Given the description of an element on the screen output the (x, y) to click on. 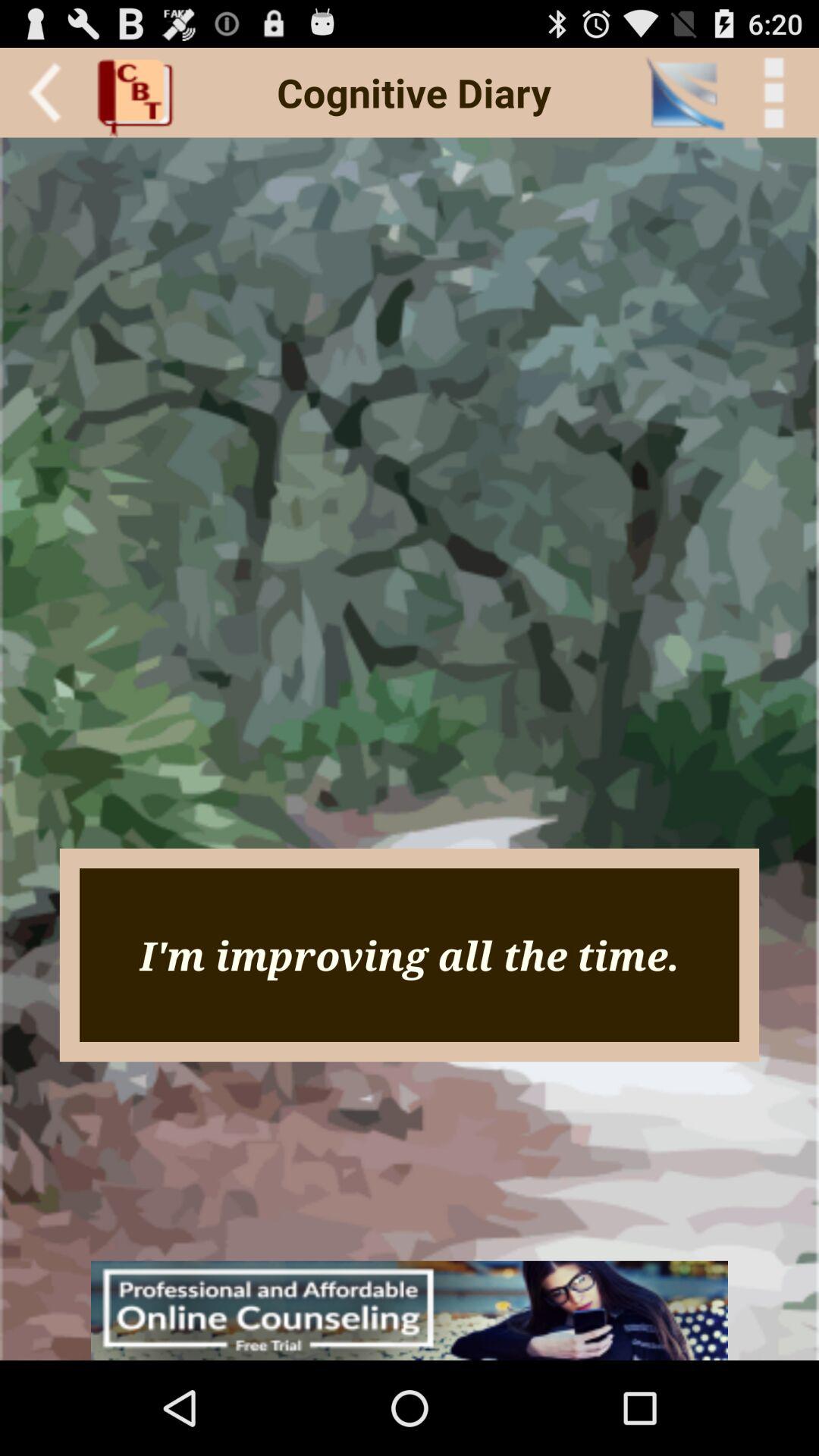
view free trial (409, 1310)
